Given the description of an element on the screen output the (x, y) to click on. 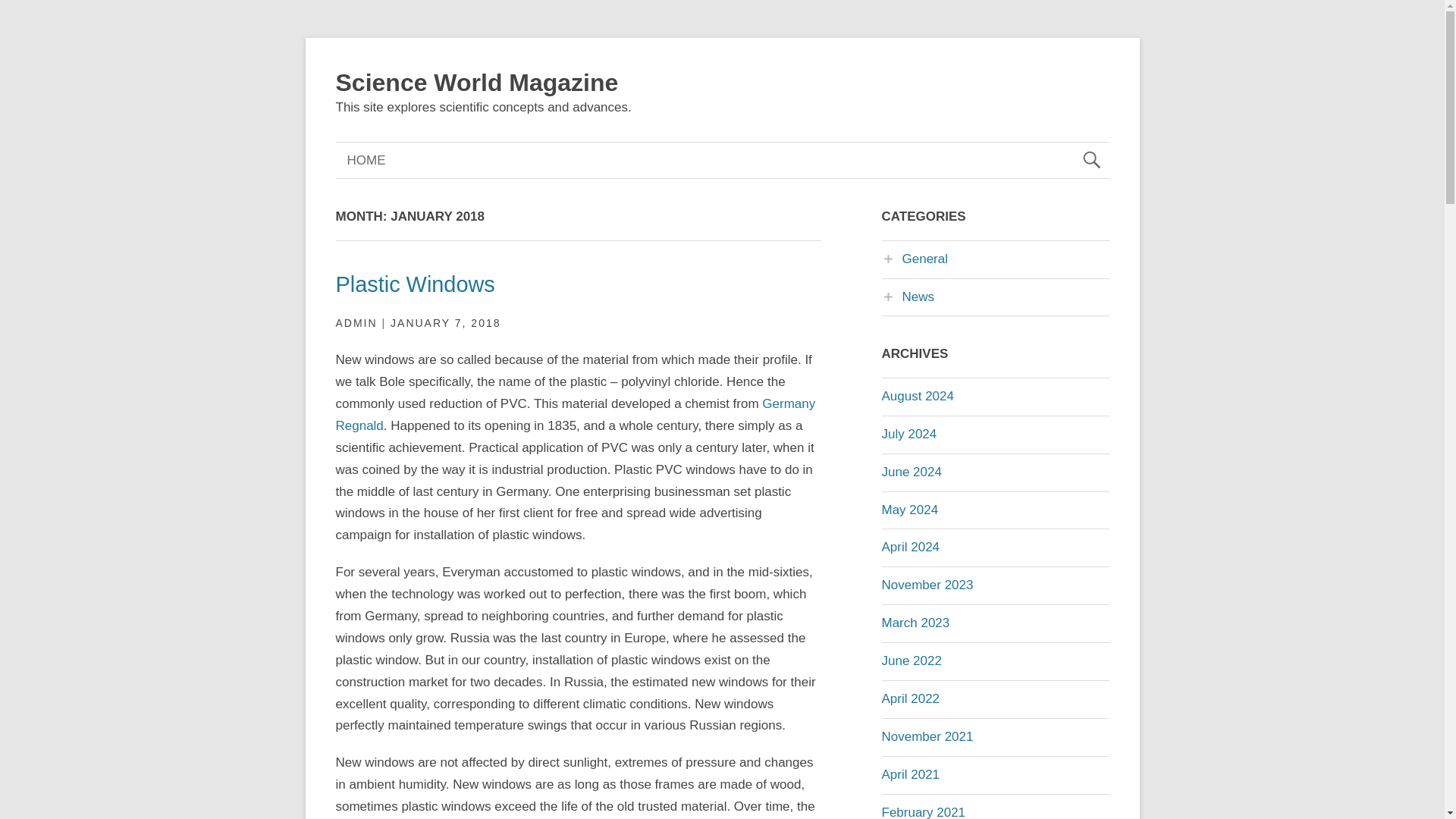
July 2024 (908, 433)
February 2021 (922, 812)
Science World Magazine (475, 82)
June 2022 (910, 660)
November 2021 (926, 736)
General (913, 259)
JANUARY 7, 2018 (445, 322)
HOME (365, 160)
April 2024 (909, 546)
April 2021 (909, 774)
